Given the description of an element on the screen output the (x, y) to click on. 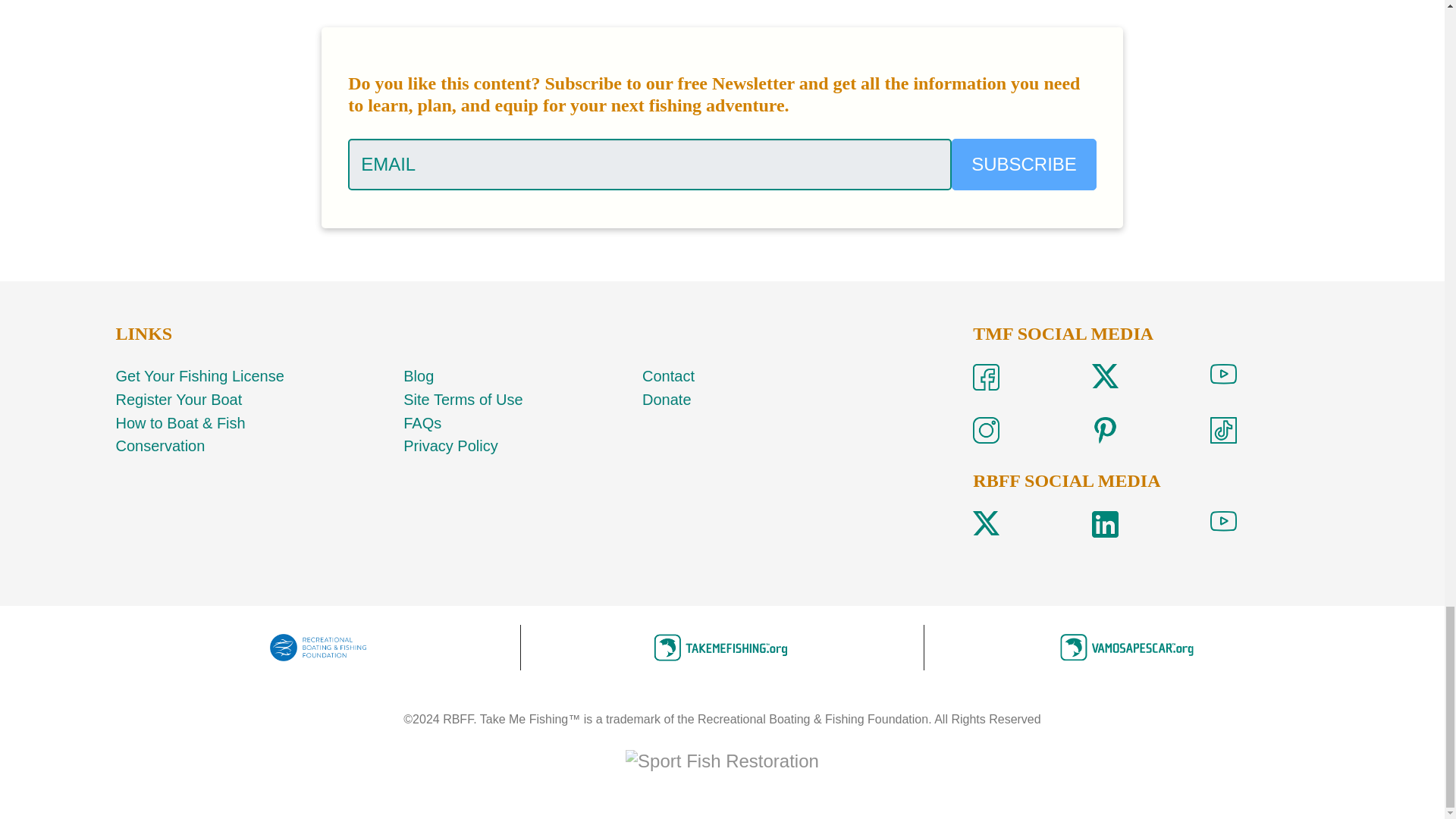
Subscribe (1024, 164)
